Given the description of an element on the screen output the (x, y) to click on. 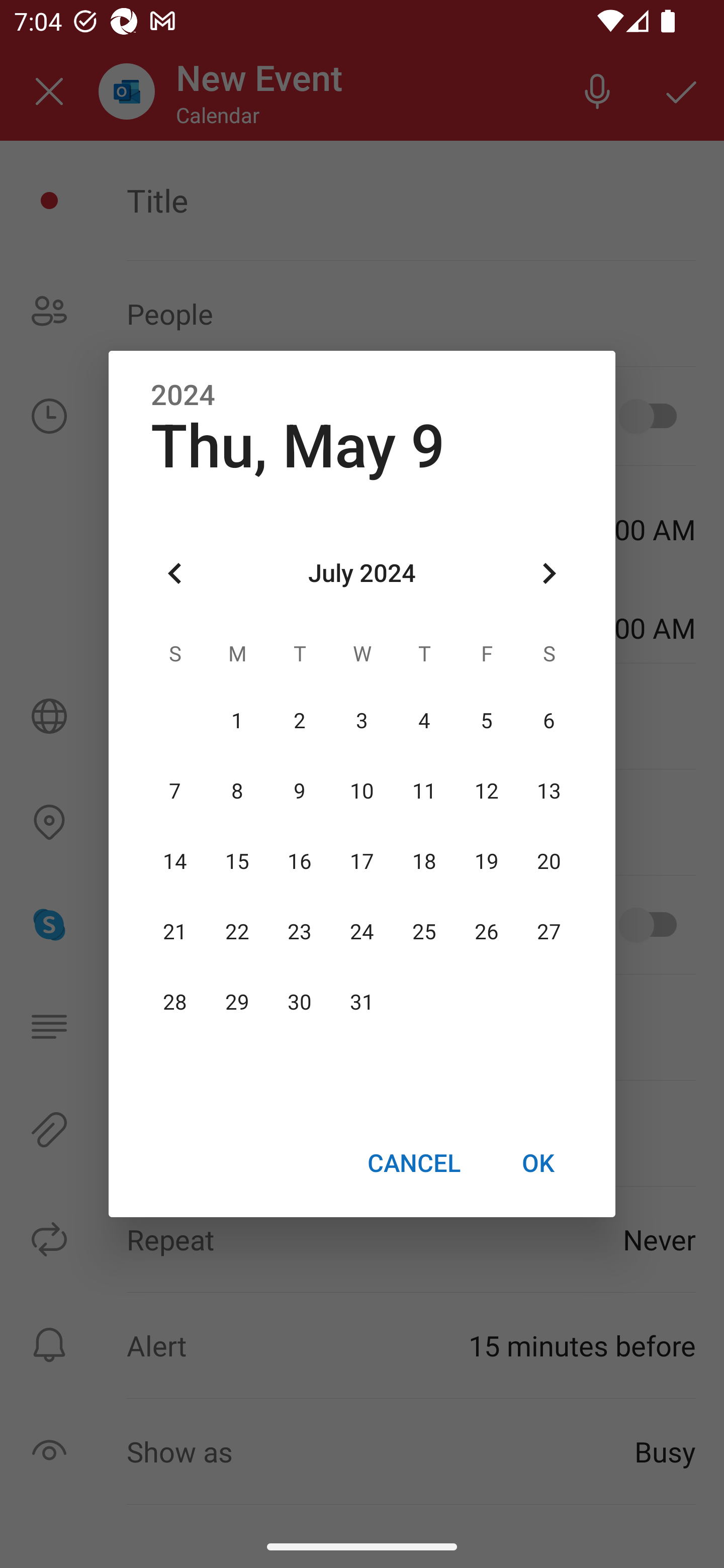
2024 (182, 395)
Thu, May 9 (297, 446)
Previous month (174, 573)
Next month (548, 573)
1 01 July 2024 (237, 720)
2 02 July 2024 (299, 720)
3 03 July 2024 (361, 720)
4 04 July 2024 (424, 720)
5 05 July 2024 (486, 720)
6 06 July 2024 (548, 720)
7 07 July 2024 (175, 790)
8 08 July 2024 (237, 790)
9 09 July 2024 (299, 790)
10 10 July 2024 (361, 790)
11 11 July 2024 (424, 790)
12 12 July 2024 (486, 790)
13 13 July 2024 (548, 790)
14 14 July 2024 (175, 861)
15 15 July 2024 (237, 861)
16 16 July 2024 (299, 861)
17 17 July 2024 (361, 861)
18 18 July 2024 (424, 861)
19 19 July 2024 (486, 861)
20 20 July 2024 (548, 861)
21 21 July 2024 (175, 931)
22 22 July 2024 (237, 931)
23 23 July 2024 (299, 931)
24 24 July 2024 (361, 931)
25 25 July 2024 (424, 931)
26 26 July 2024 (486, 931)
27 27 July 2024 (548, 931)
28 28 July 2024 (175, 1002)
29 29 July 2024 (237, 1002)
30 30 July 2024 (299, 1002)
31 31 July 2024 (361, 1002)
CANCEL (413, 1162)
OK (537, 1162)
